Given the description of an element on the screen output the (x, y) to click on. 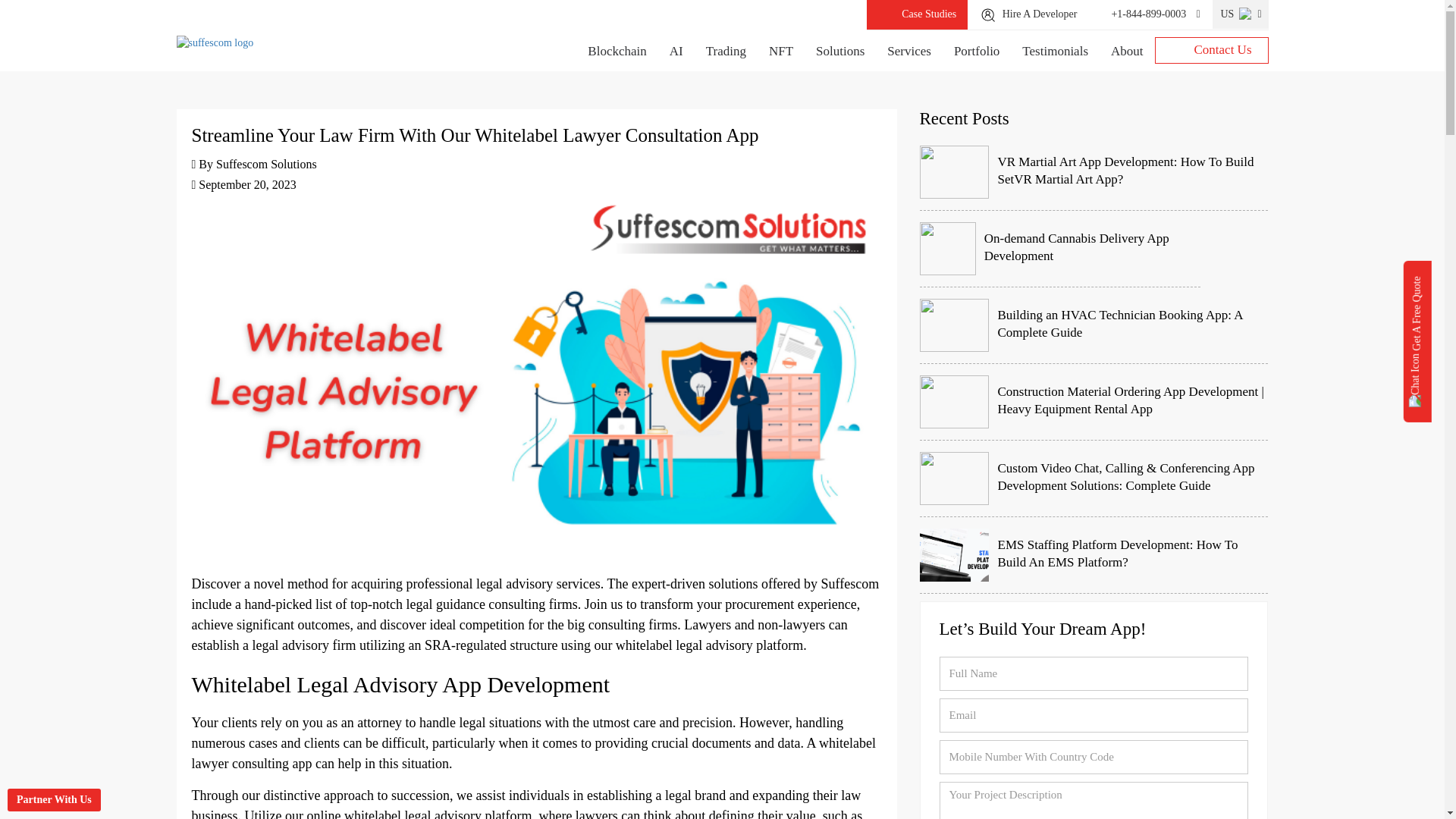
On-demand Cannabis Delivery App Development (1058, 248)
Building an HVAC Technician Booking App: A Complete Guide (1093, 325)
